Given the description of an element on the screen output the (x, y) to click on. 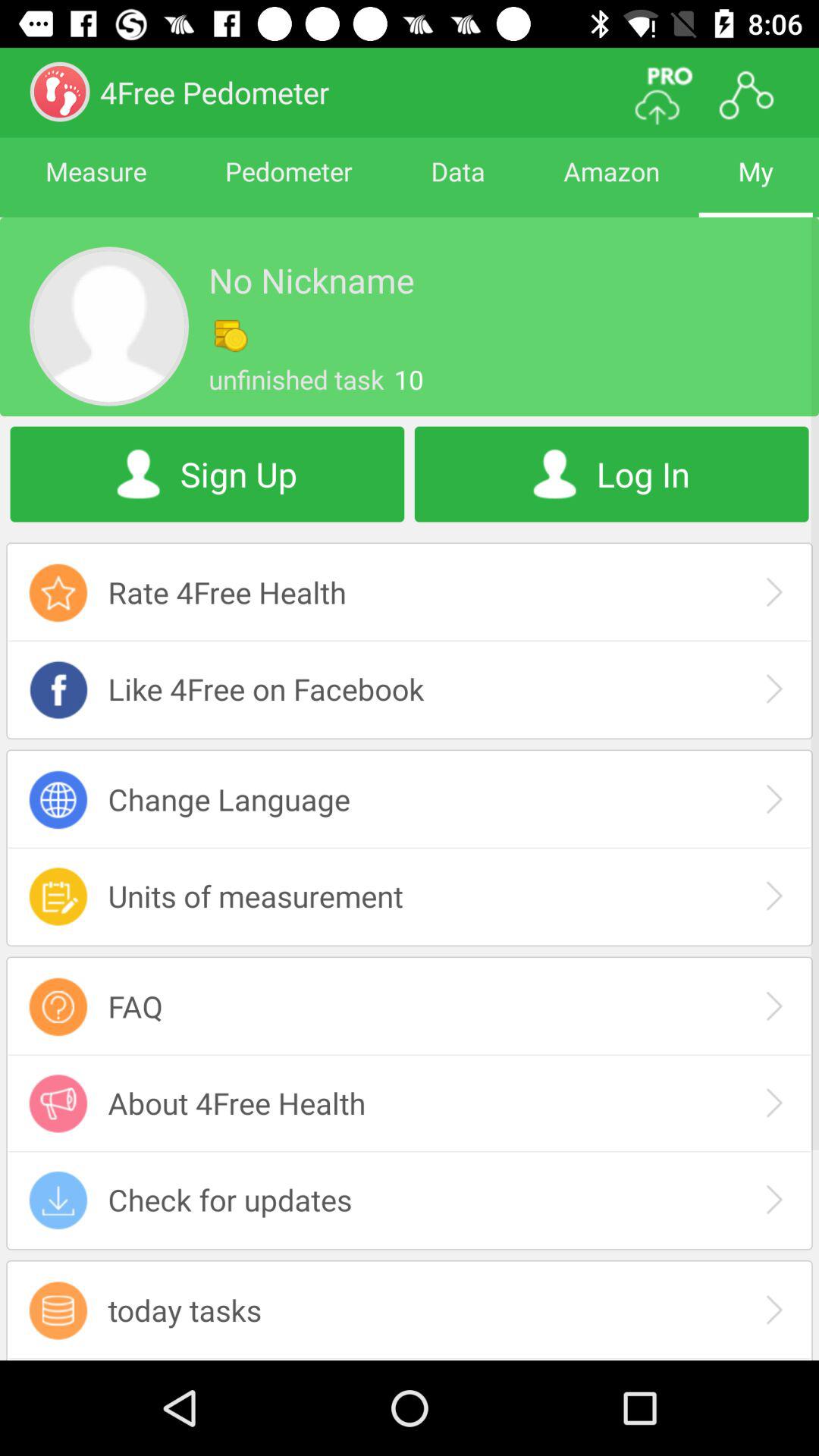
choose profile picture (108, 326)
